Given the description of an element on the screen output the (x, y) to click on. 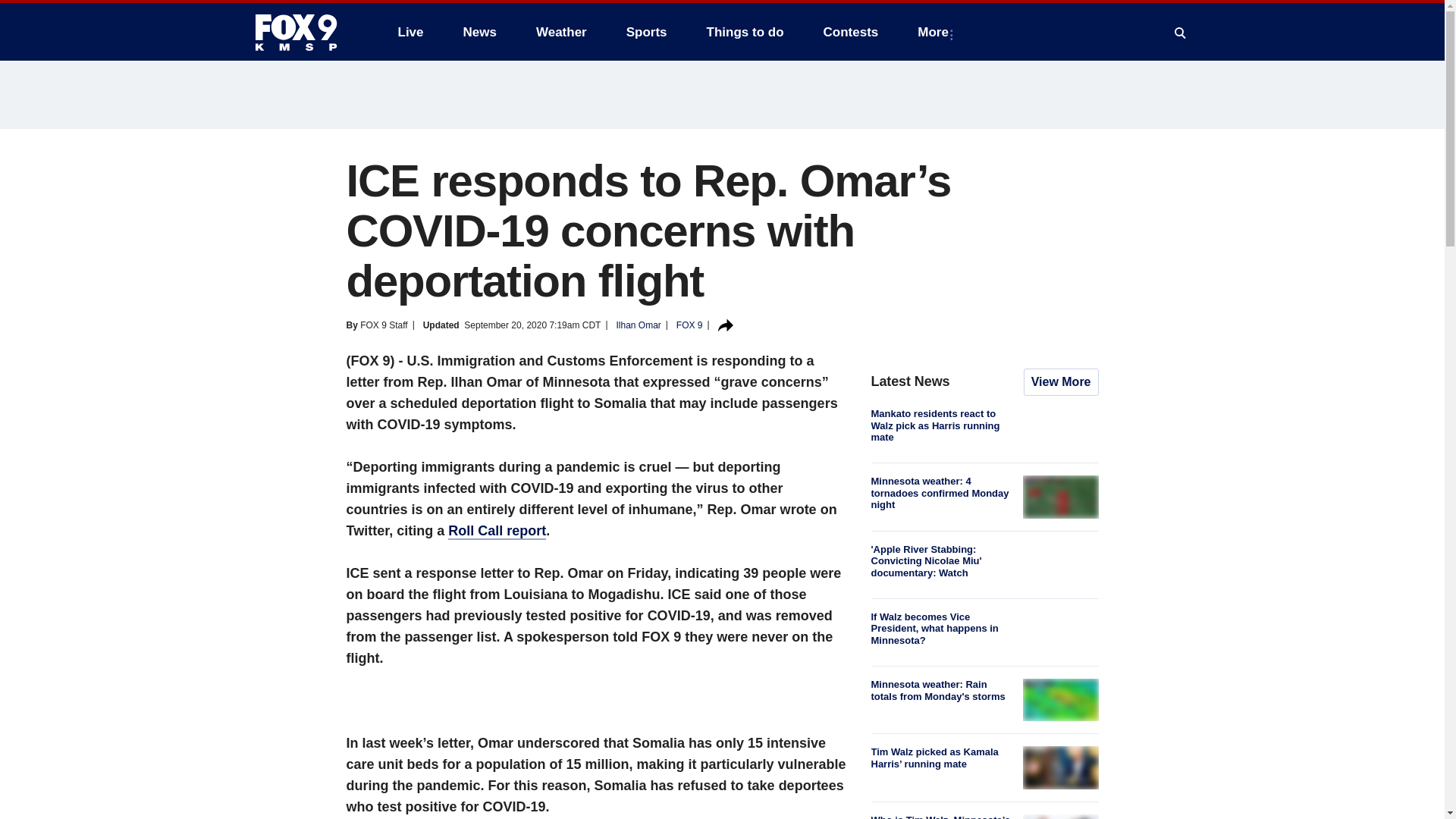
Sports (646, 32)
Live (410, 32)
More (935, 32)
News (479, 32)
Weather (561, 32)
Contests (850, 32)
Things to do (745, 32)
